Given the description of an element on the screen output the (x, y) to click on. 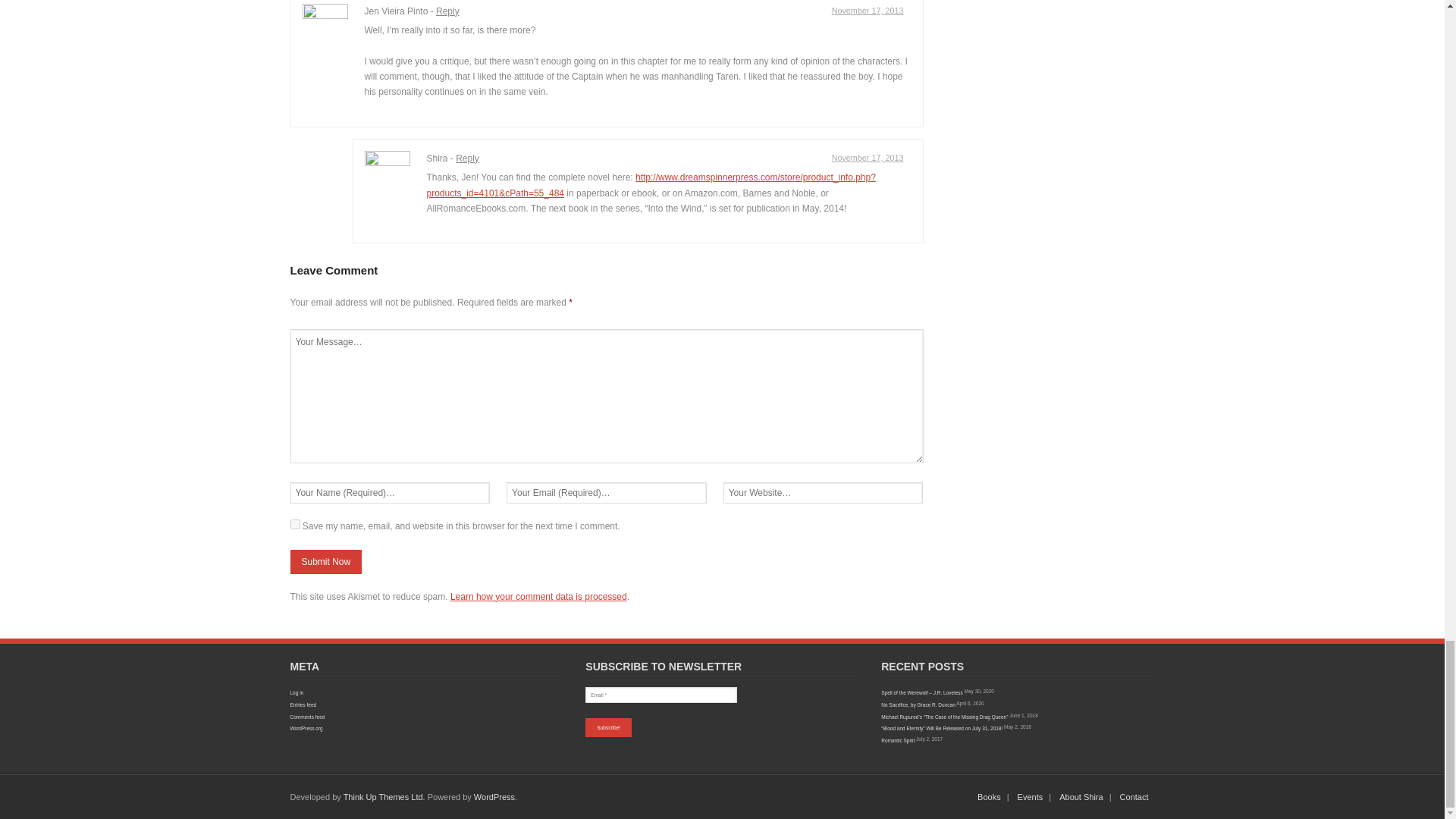
Submit Now (325, 561)
Email (660, 694)
yes (294, 524)
Subscribe! (608, 727)
